Given the description of an element on the screen output the (x, y) to click on. 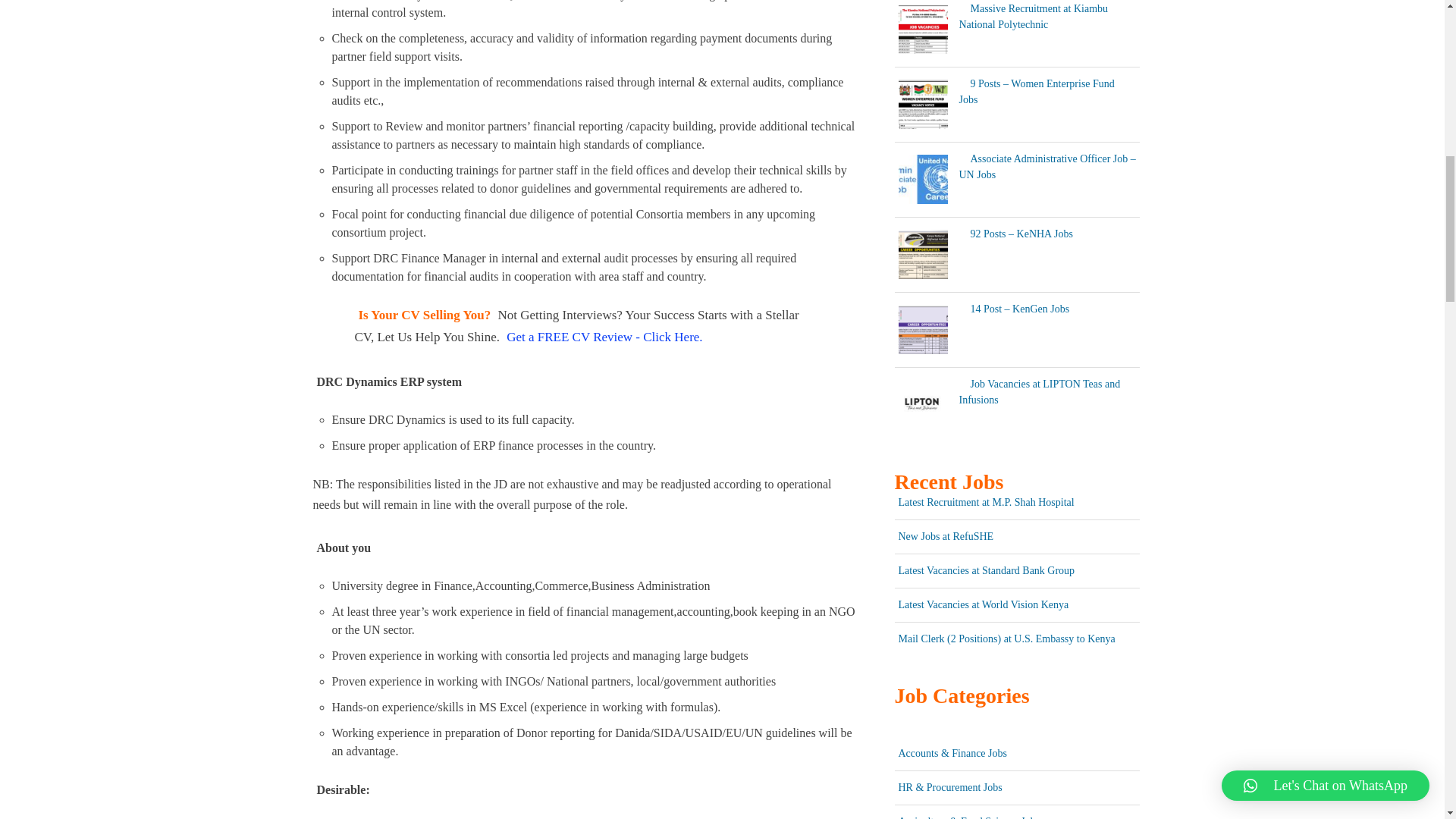
Get a FREE CV Review - Click Here. (604, 336)
